Given the description of an element on the screen output the (x, y) to click on. 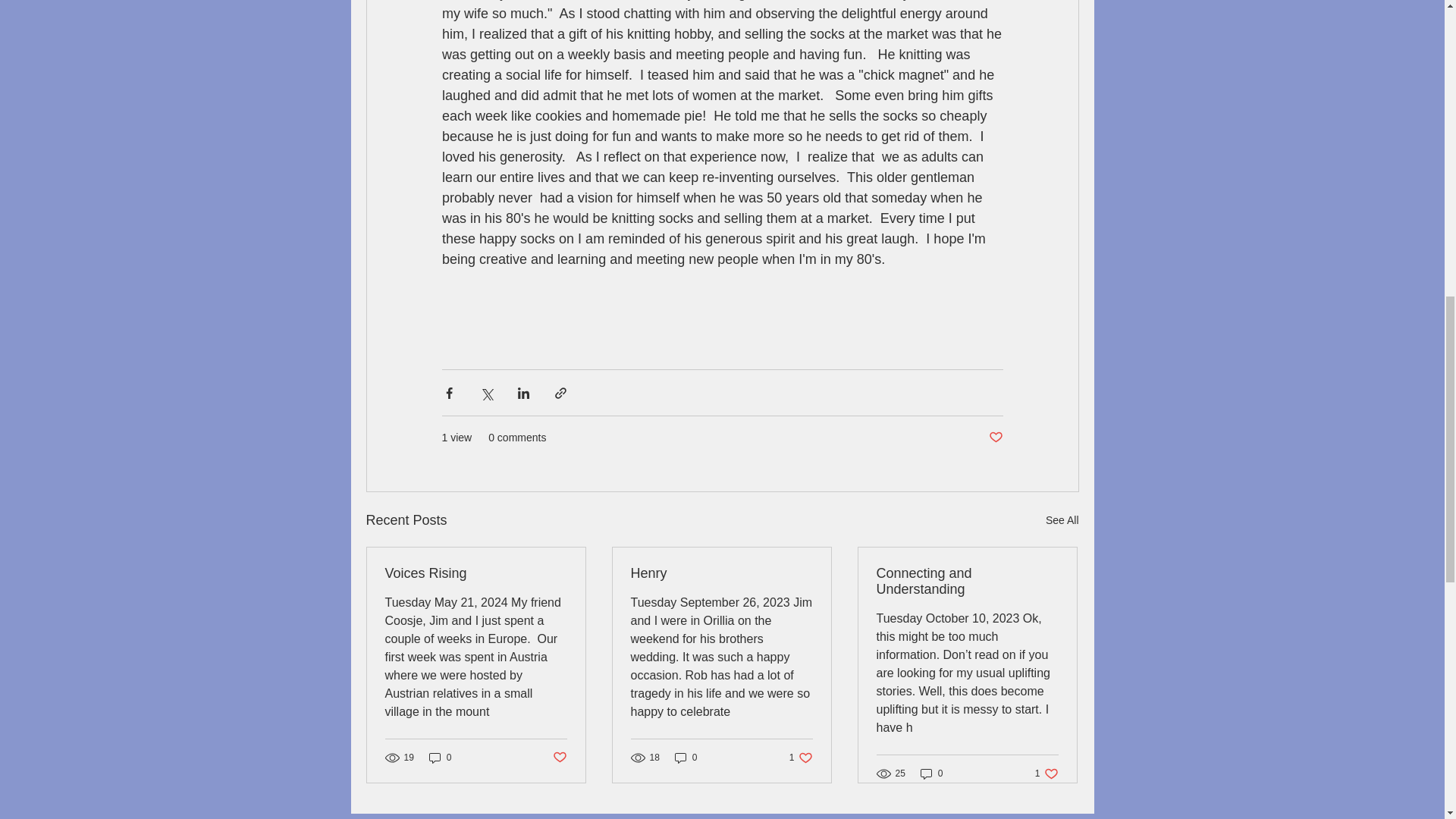
Post not marked as liked (558, 756)
Henry (721, 573)
0 (440, 757)
Connecting and Understanding (800, 757)
See All (967, 581)
Post not marked as liked (1061, 520)
0 (995, 437)
0 (685, 757)
Voices Rising (931, 772)
